Given the description of an element on the screen output the (x, y) to click on. 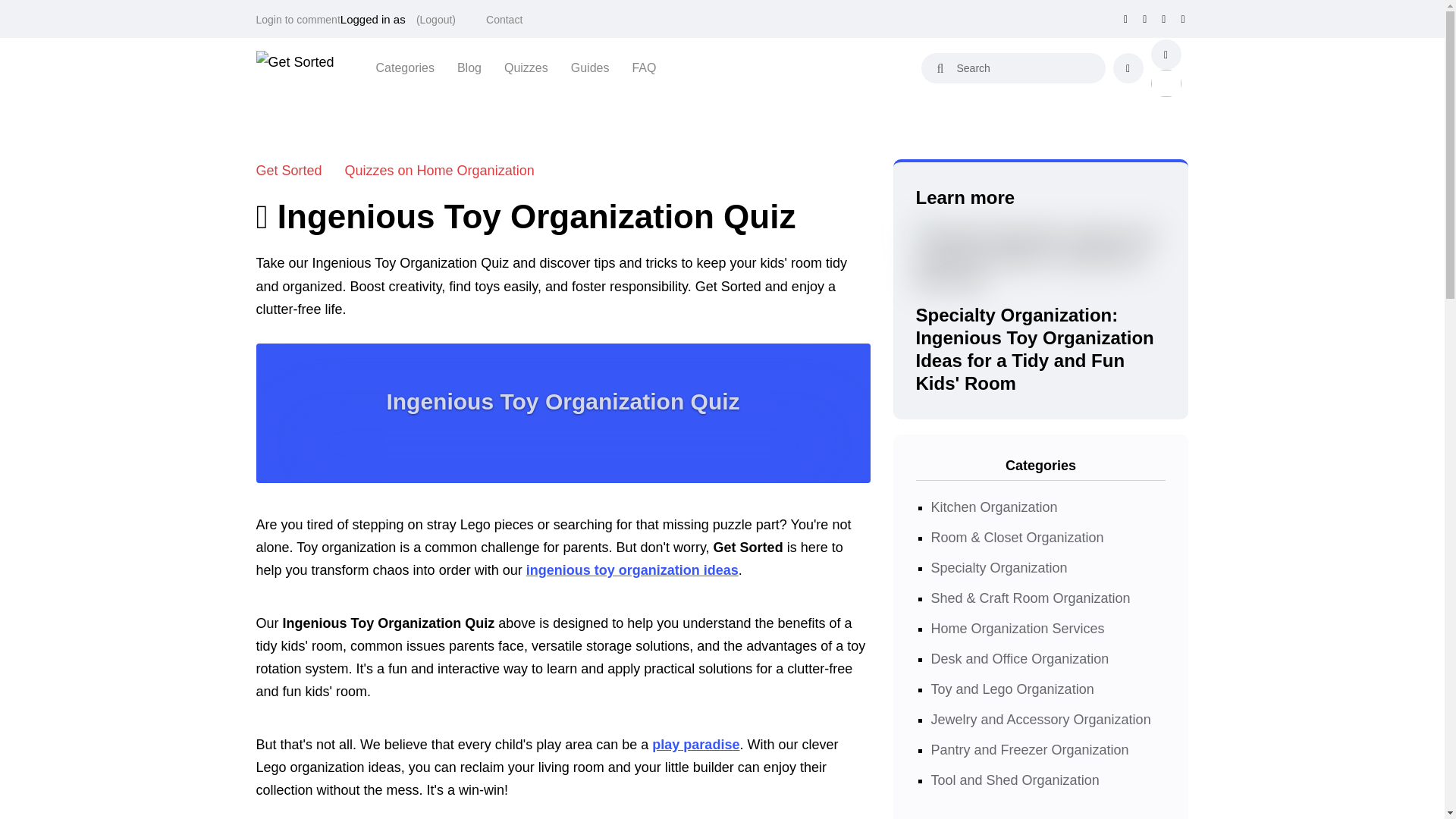
Contact (504, 19)
Categories (404, 67)
Login to comment (298, 19)
